Given the description of an element on the screen output the (x, y) to click on. 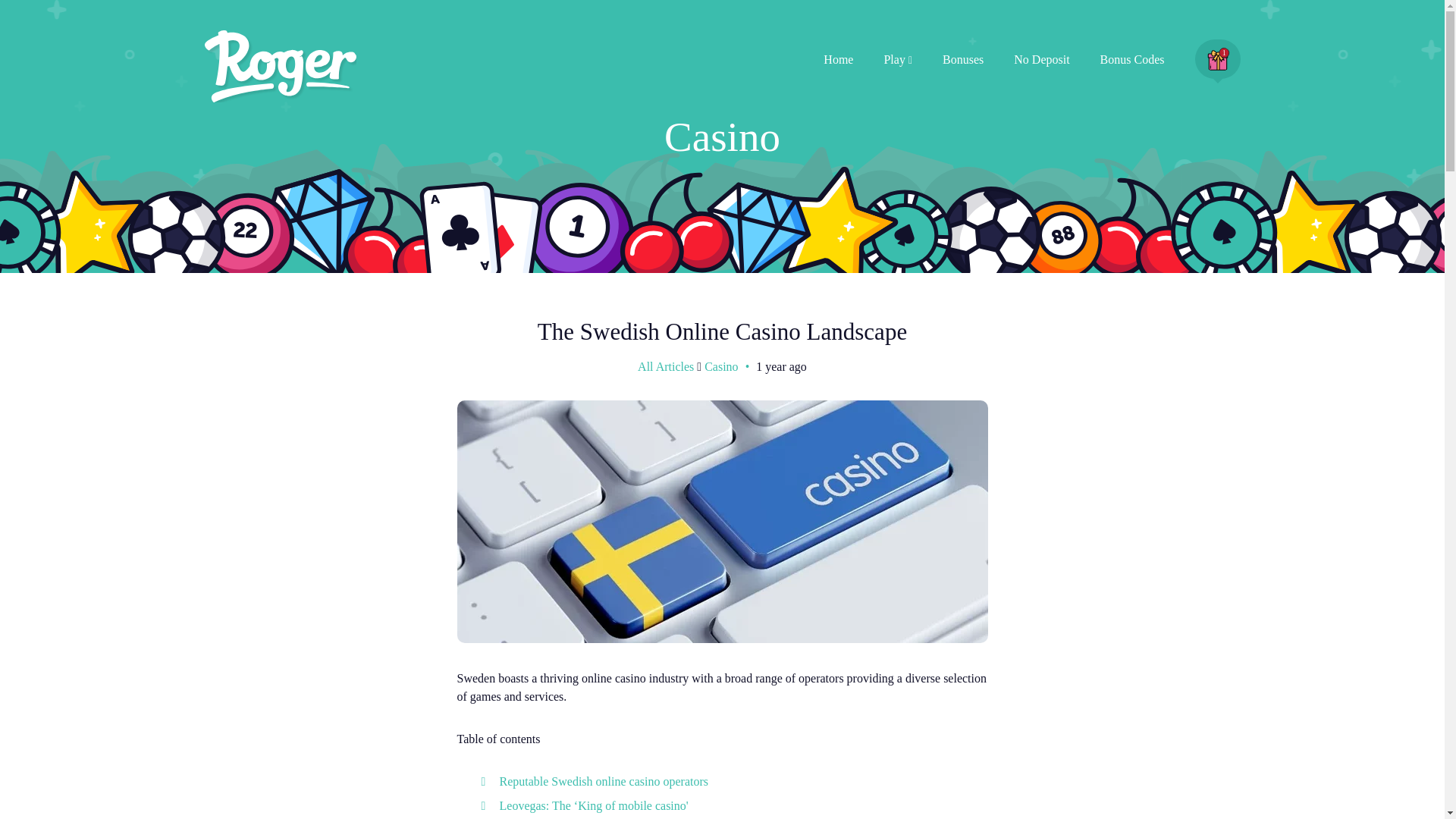
Reputable Swedish Online Casino Operators (603, 780)
Casino (721, 365)
Home (838, 59)
Leovegas: The 'King of Mobile Casino' (593, 805)
View Welcome Offers (1217, 58)
No Deposit (1040, 59)
Play (897, 59)
Reputable Swedish online casino operators (603, 780)
All Articles (665, 365)
Bonus Codes (1132, 59)
Bonuses (963, 59)
